Given the description of an element on the screen output the (x, y) to click on. 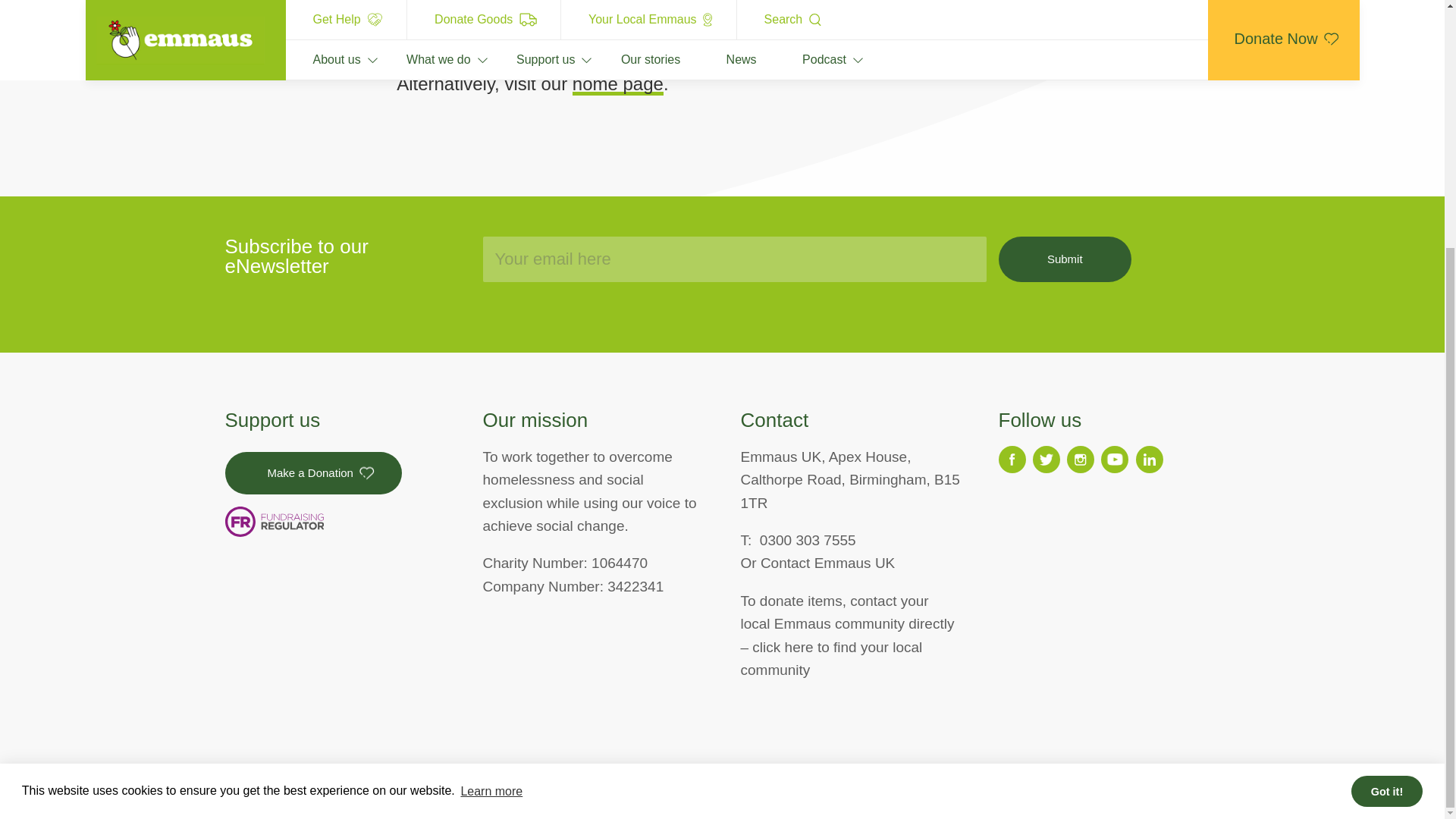
Got it! (1386, 444)
Learn more (491, 444)
